Given the description of an element on the screen output the (x, y) to click on. 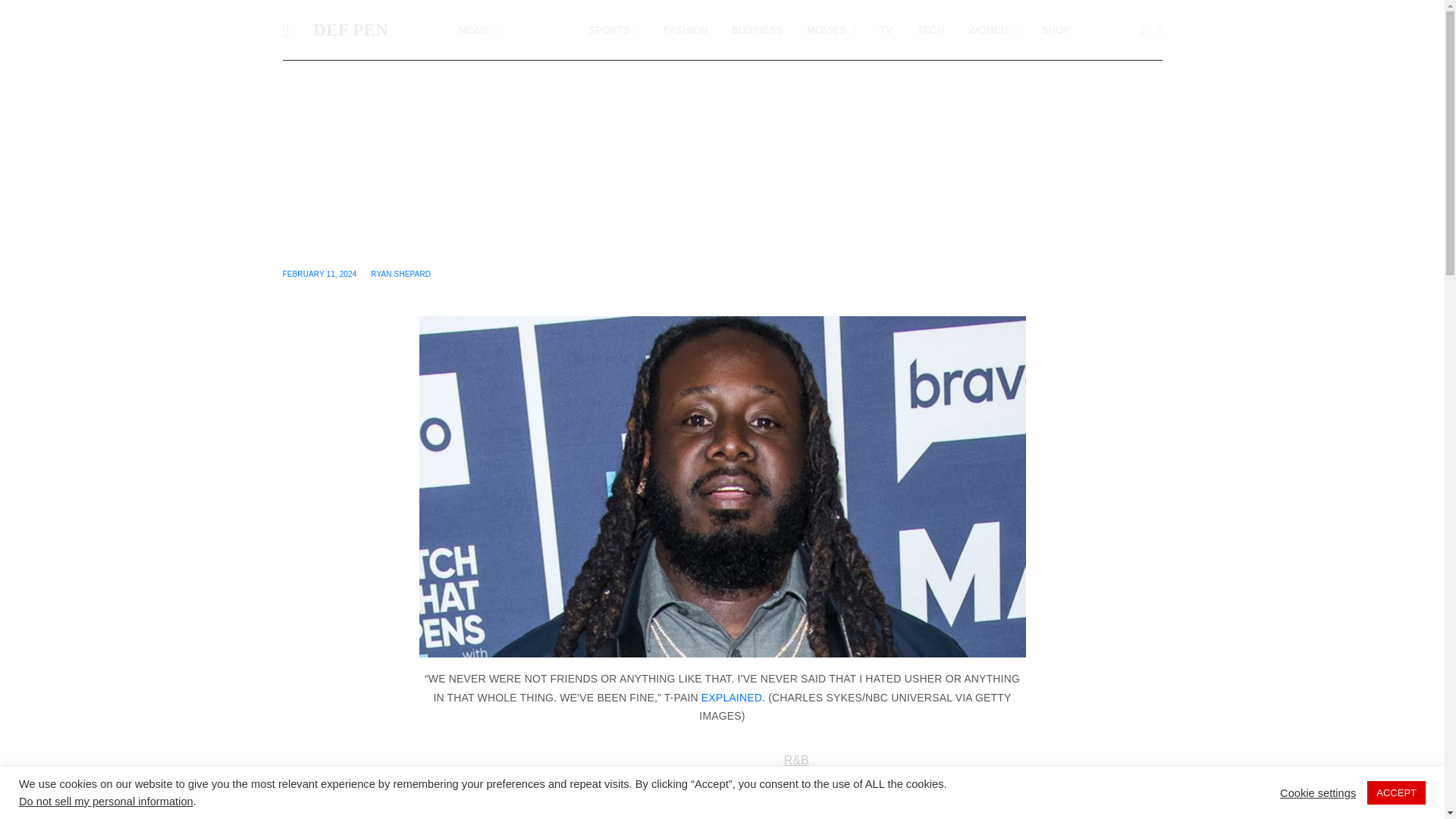
View all posts by Ryan Shepard (400, 274)
